Given the description of an element on the screen output the (x, y) to click on. 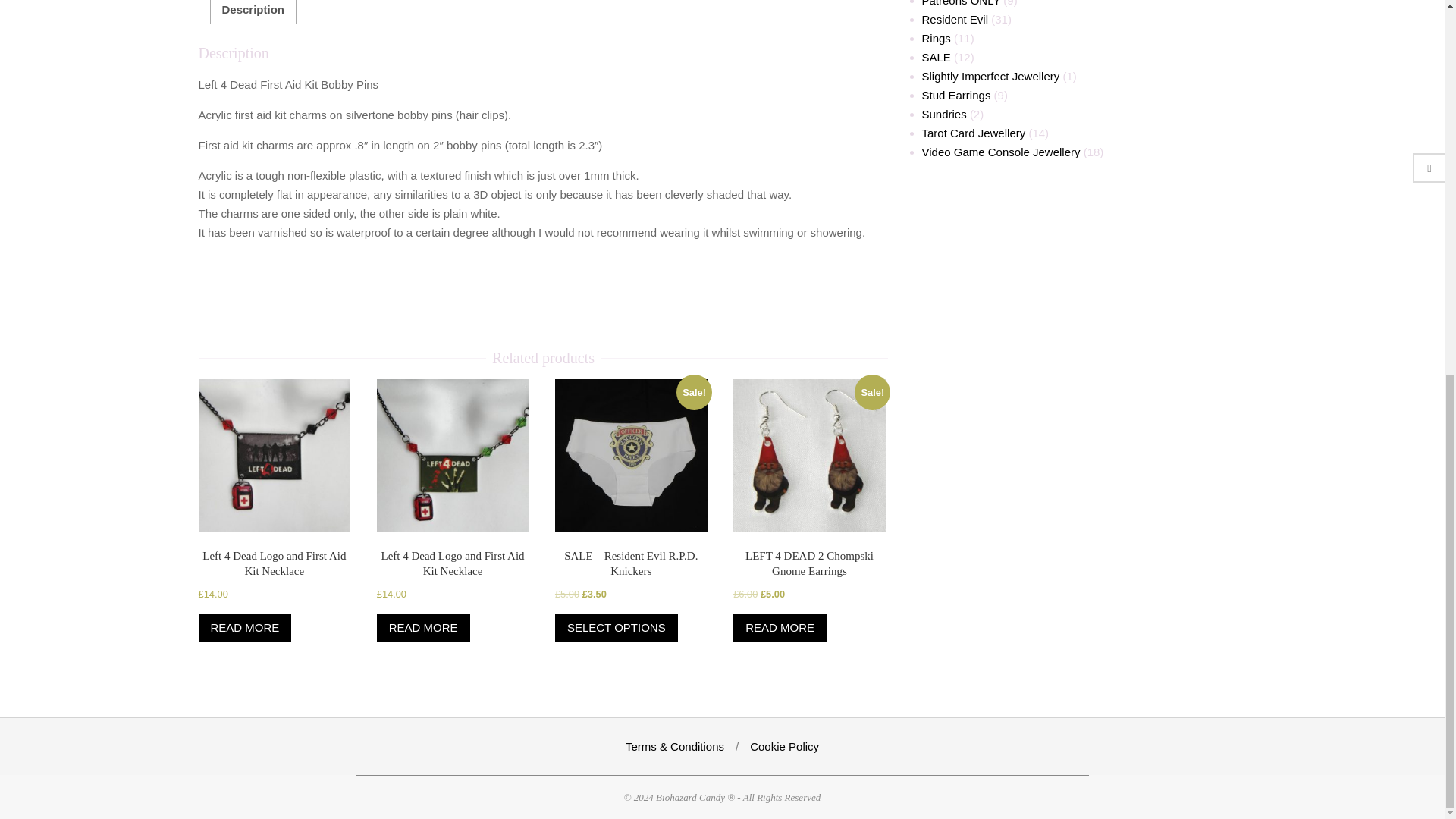
SELECT OPTIONS (616, 627)
READ MORE (245, 627)
READ MORE (423, 627)
Description (252, 12)
